Given the description of an element on the screen output the (x, y) to click on. 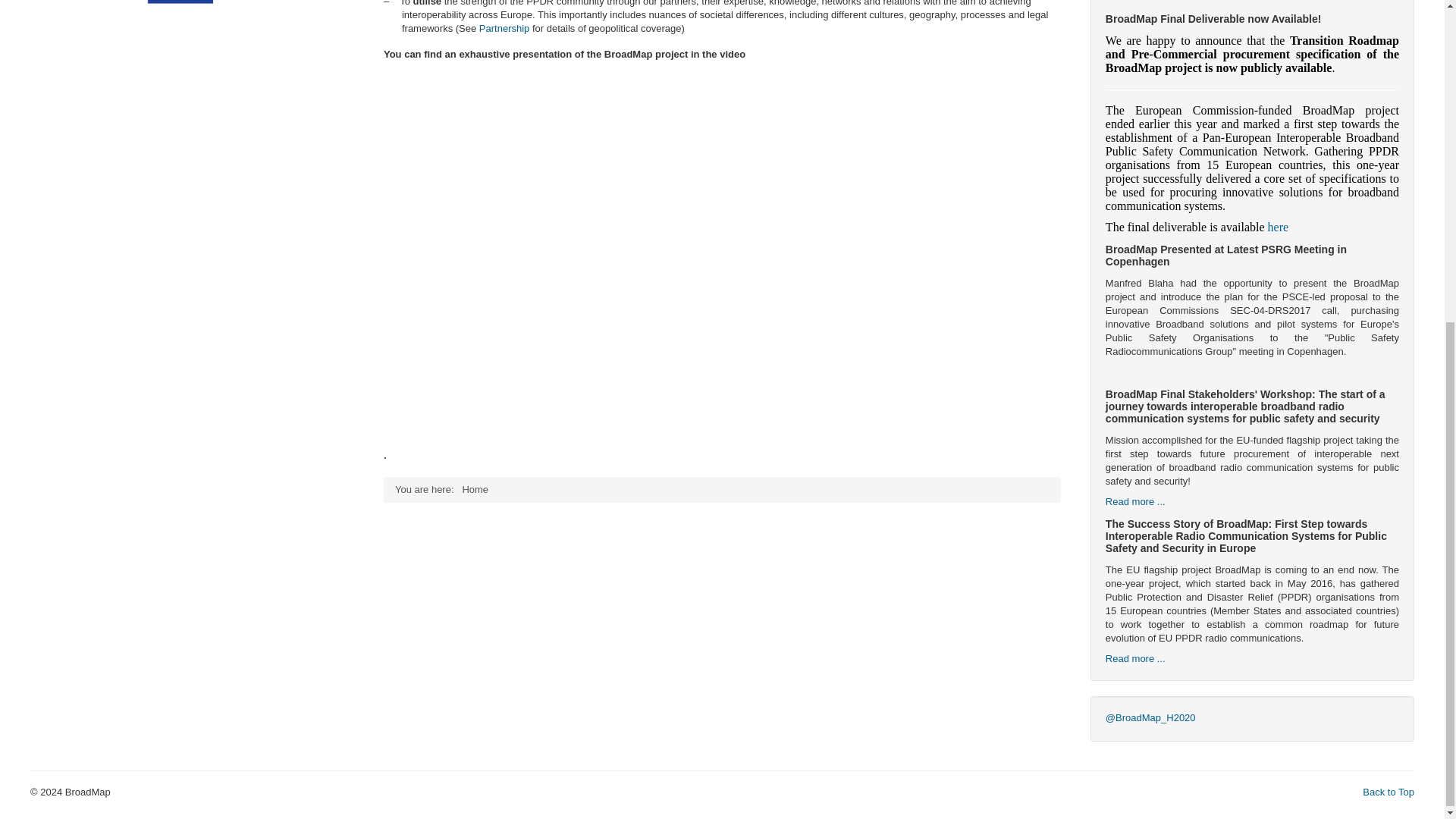
Read more ... (1135, 658)
Read more ... (1135, 501)
here (1278, 226)
Back to Top (1387, 791)
Partnership (504, 28)
